Given the description of an element on the screen output the (x, y) to click on. 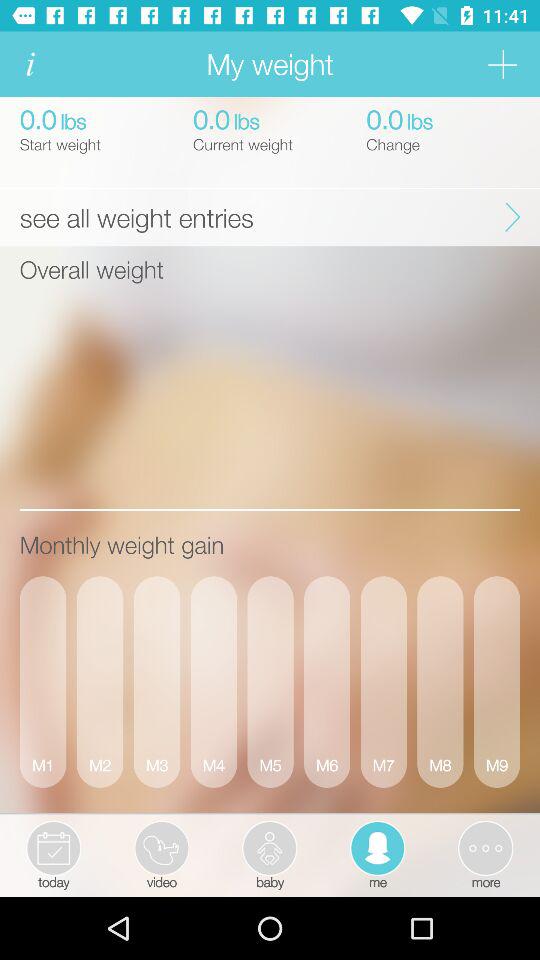
information tab (30, 63)
